Given the description of an element on the screen output the (x, y) to click on. 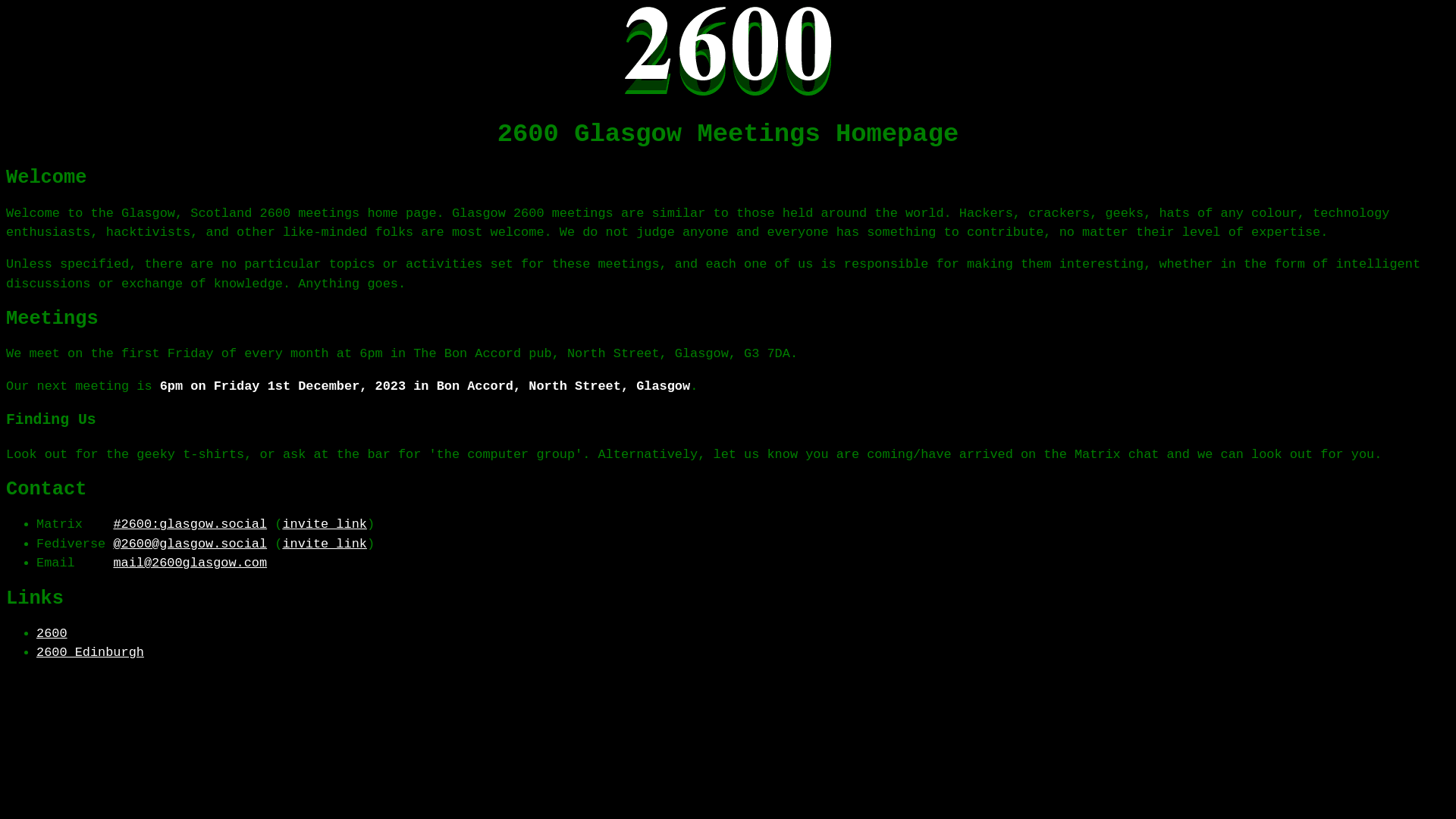
invite link Element type: text (324, 524)
@2600@glasgow.social Element type: text (189, 543)
mail@2600glasgow.com Element type: text (189, 562)
2600 Edinburgh Element type: text (90, 652)
#2600:glasgow.social Element type: text (189, 524)
invite link Element type: text (324, 543)
2600 Element type: text (51, 633)
